Given the description of an element on the screen output the (x, y) to click on. 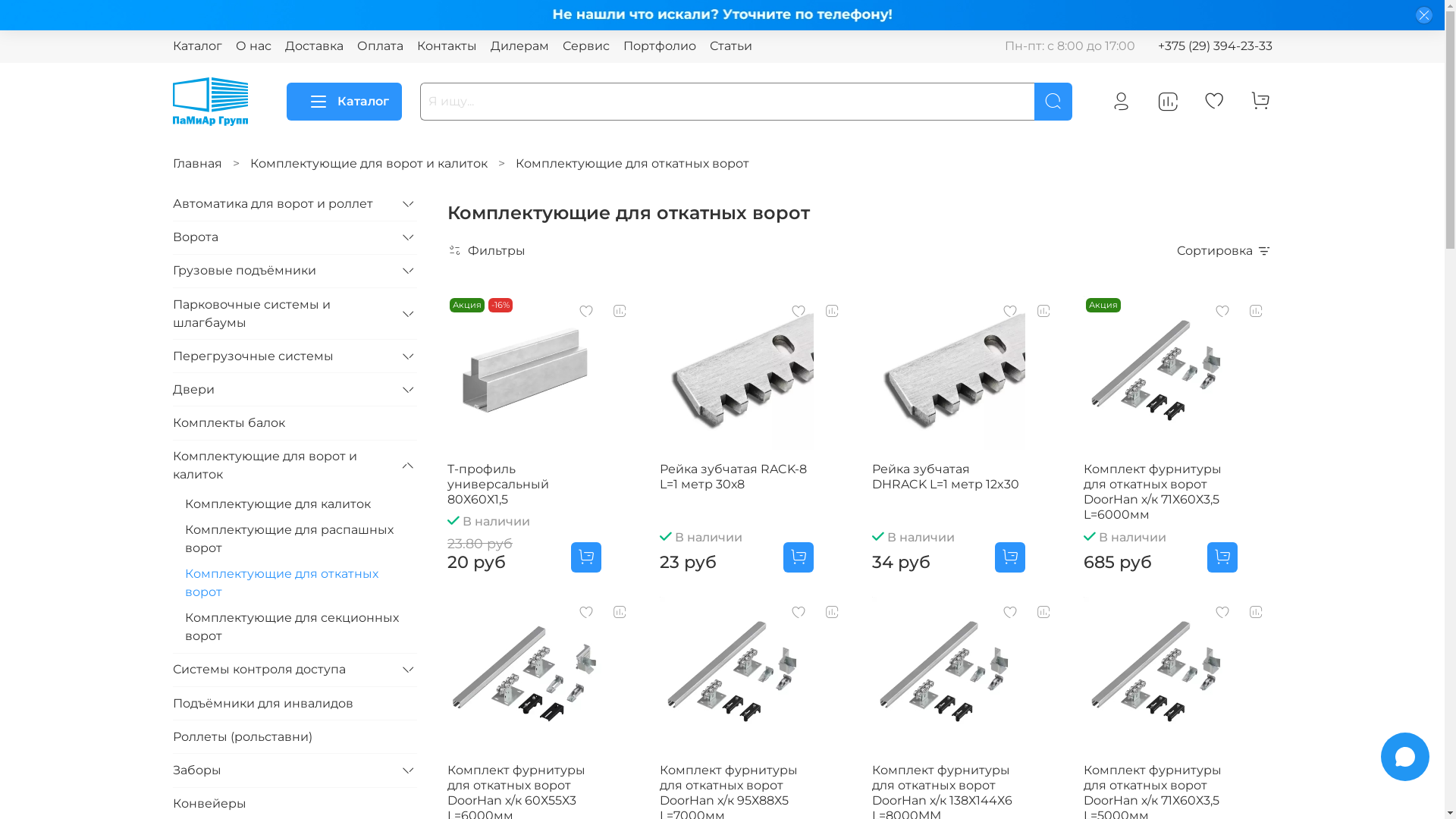
+375 (29) 394-23-33 Element type: text (1214, 46)
